Given the description of an element on the screen output the (x, y) to click on. 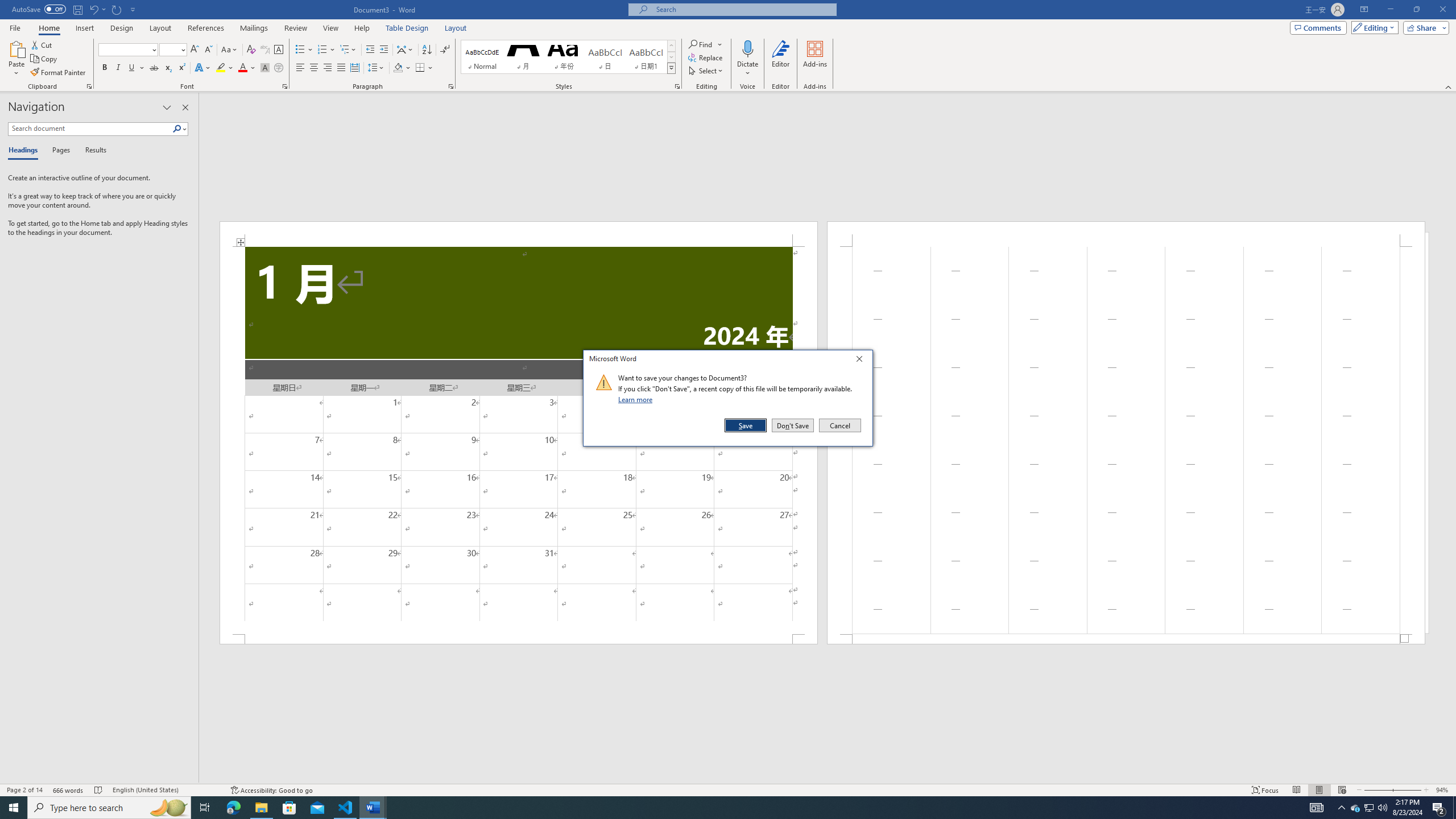
Sort... (426, 49)
Center (313, 67)
Underline (136, 67)
Styles... (676, 85)
Decrease Indent (370, 49)
Dictate (747, 48)
Font... (285, 85)
Class: NetUIImage (603, 382)
Footer -Section 1- (1126, 638)
AutoSave (38, 9)
Shrink Font (208, 49)
